Given the description of an element on the screen output the (x, y) to click on. 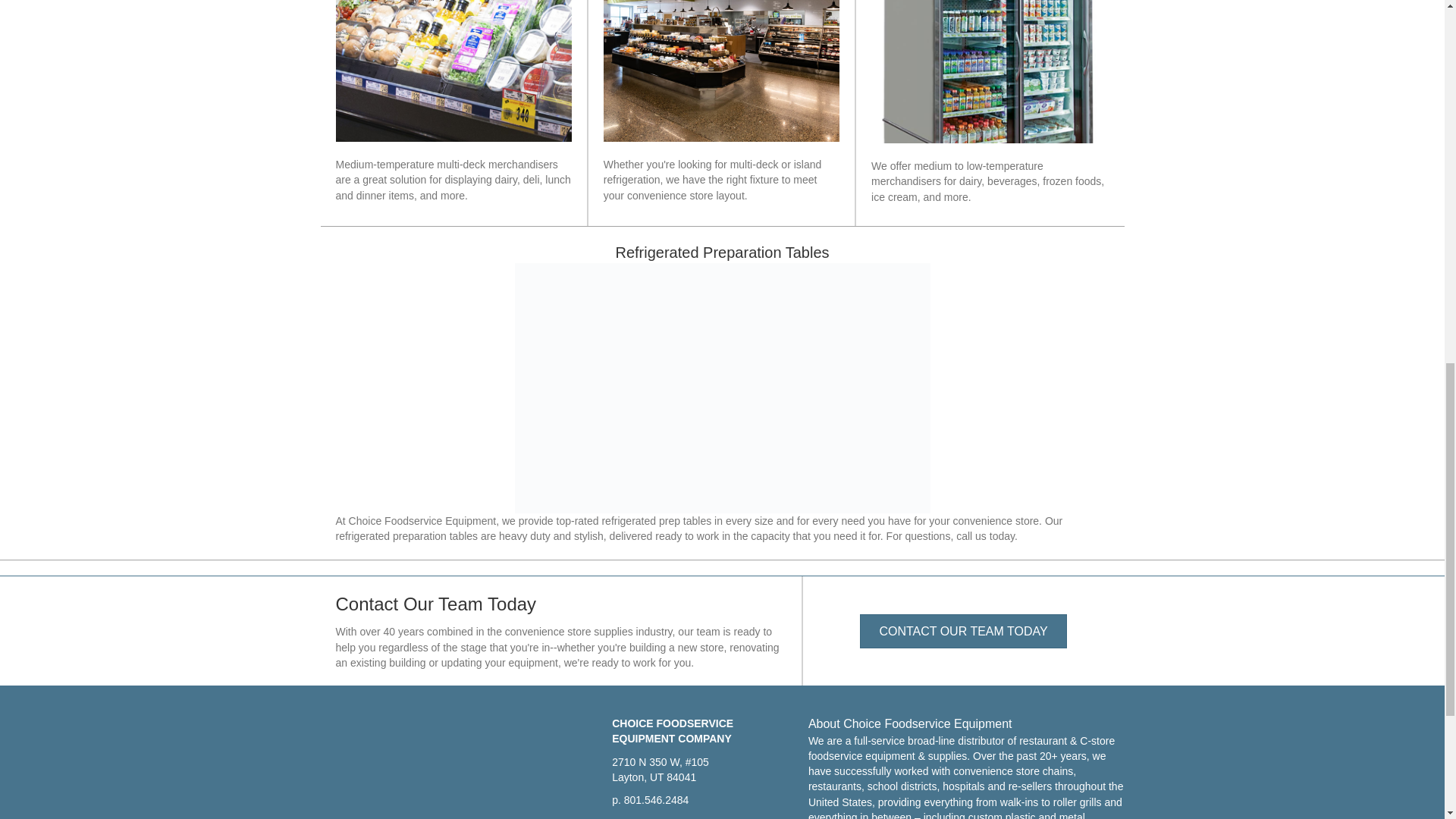
CONTACT OUR TEAM TODAY (962, 631)
Convenience Store Remodel (722, 70)
Reach-in merchandiser for c-stores (989, 71)
multi-deck merchandiser for convenience stores (452, 70)
Refrigerated Prep Table for Convenience Stores (721, 387)
